Given the description of an element on the screen output the (x, y) to click on. 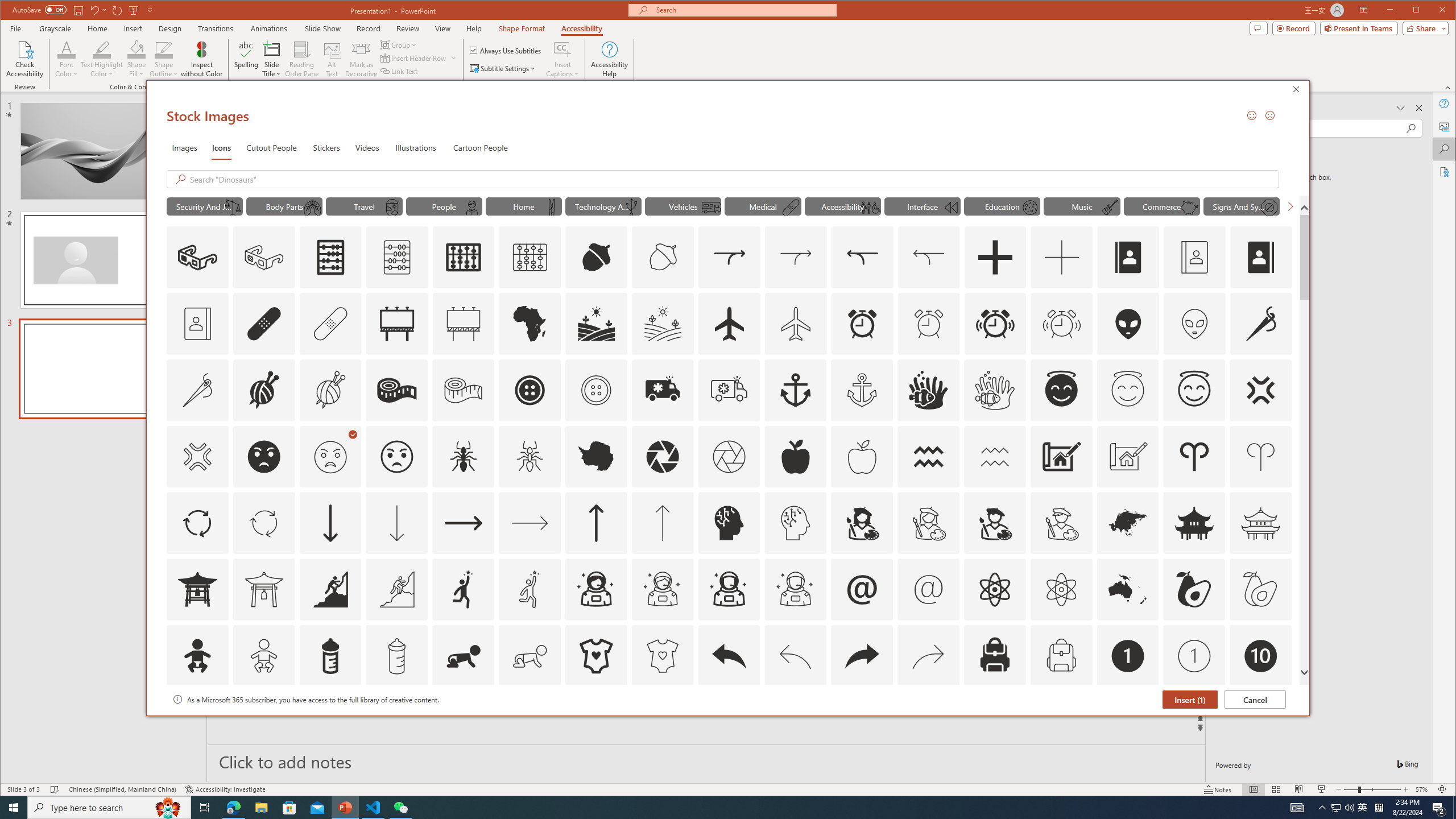
Subtitle Settings (502, 68)
AutomationID: Icons_Rv_M (710, 207)
AutomationID: Icons_Badge5_M (729, 721)
AutomationID: Icons_Aspiration1_M (529, 589)
